Given the description of an element on the screen output the (x, y) to click on. 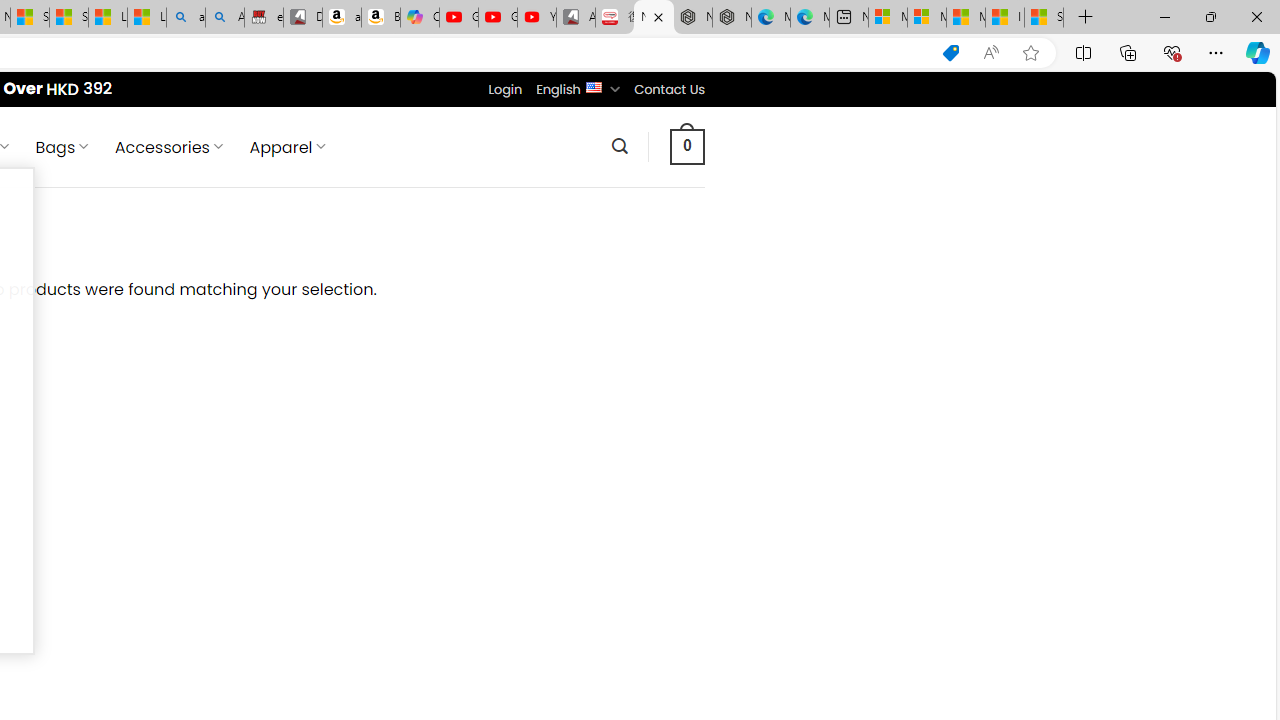
I Gained 20 Pounds of Muscle in 30 Days! | Watch (1004, 17)
Restore (1210, 16)
Microsoft account | Privacy (926, 17)
Login (505, 89)
Settings and more (Alt+F) (1215, 52)
Microsoft Start (966, 17)
Split screen (1083, 52)
Search (619, 146)
New Tab (1085, 17)
English (592, 86)
